Given the description of an element on the screen output the (x, y) to click on. 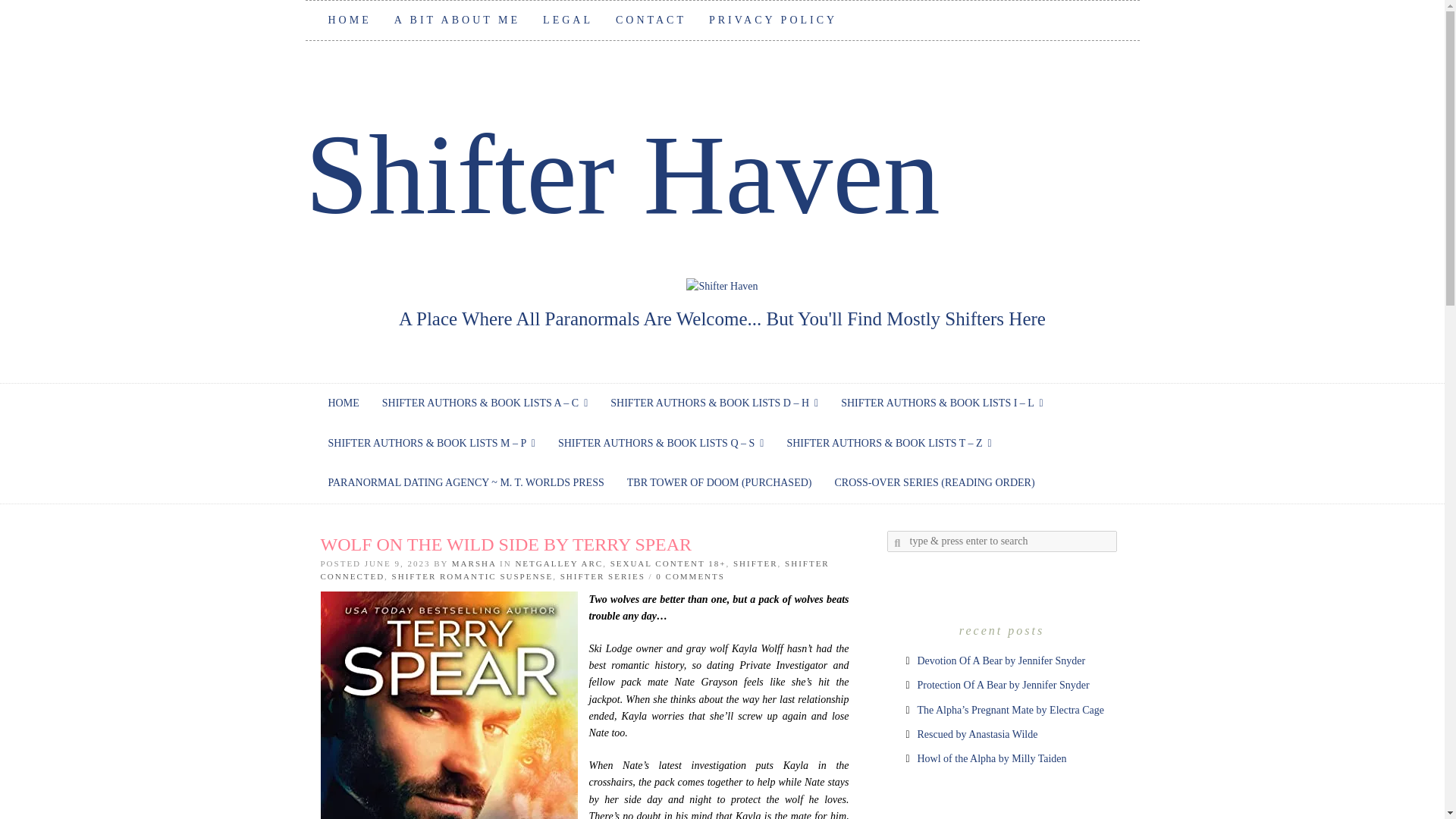
CONTACT (650, 20)
View all posts in Shifter Romantic Suspense (472, 575)
View all posts in Shifter Connected (574, 569)
LEGAL (567, 20)
View all posts in Shifter (755, 563)
HOME (344, 403)
PRIVACY POLICY (772, 20)
View all posts in Shifter Series (602, 575)
A BIT ABOUT ME (456, 20)
HOME (349, 20)
